Given the description of an element on the screen output the (x, y) to click on. 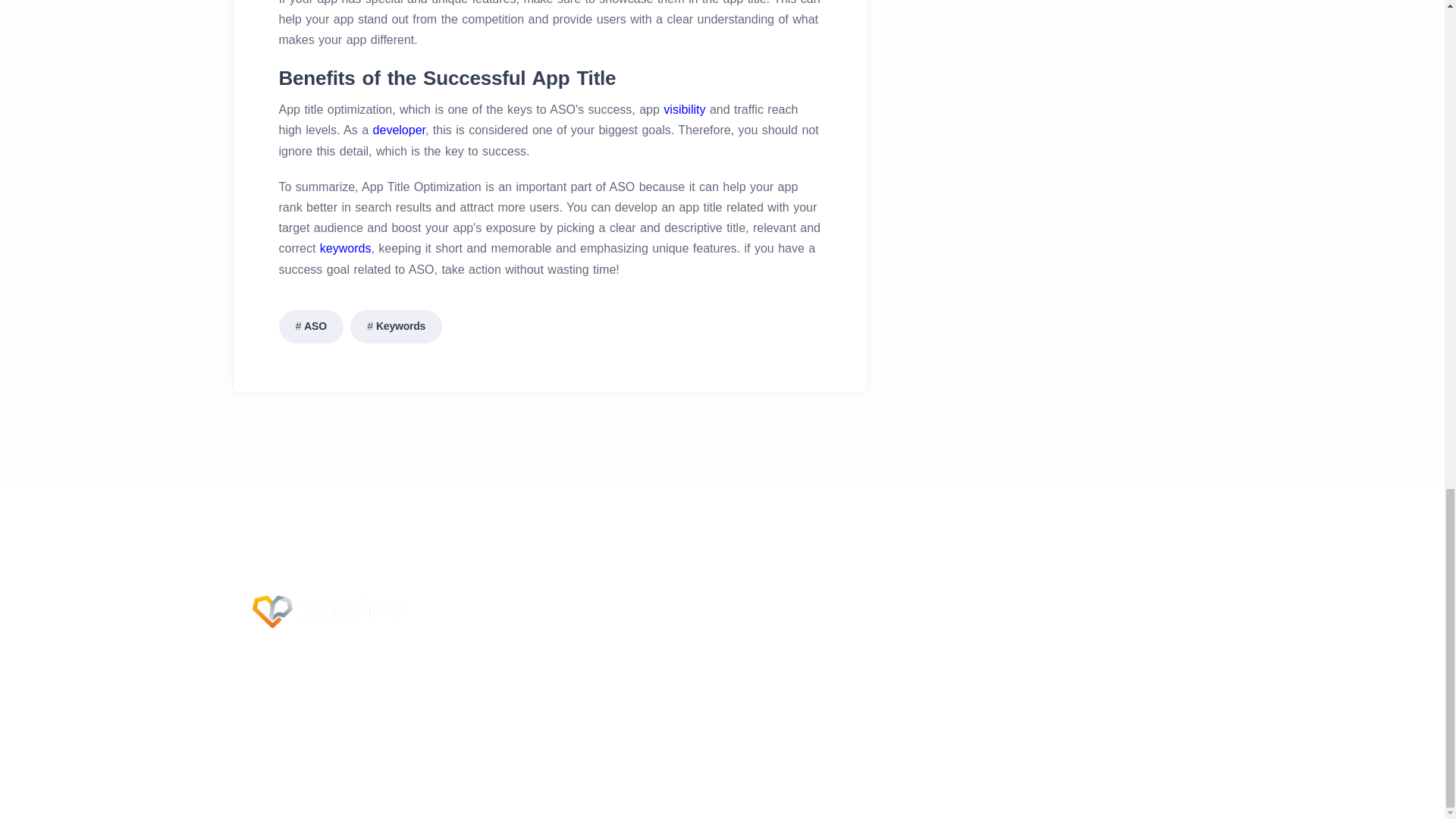
Keywords (396, 326)
developer (398, 129)
ASO (311, 326)
keywords (345, 247)
visibility (683, 109)
